Given the description of an element on the screen output the (x, y) to click on. 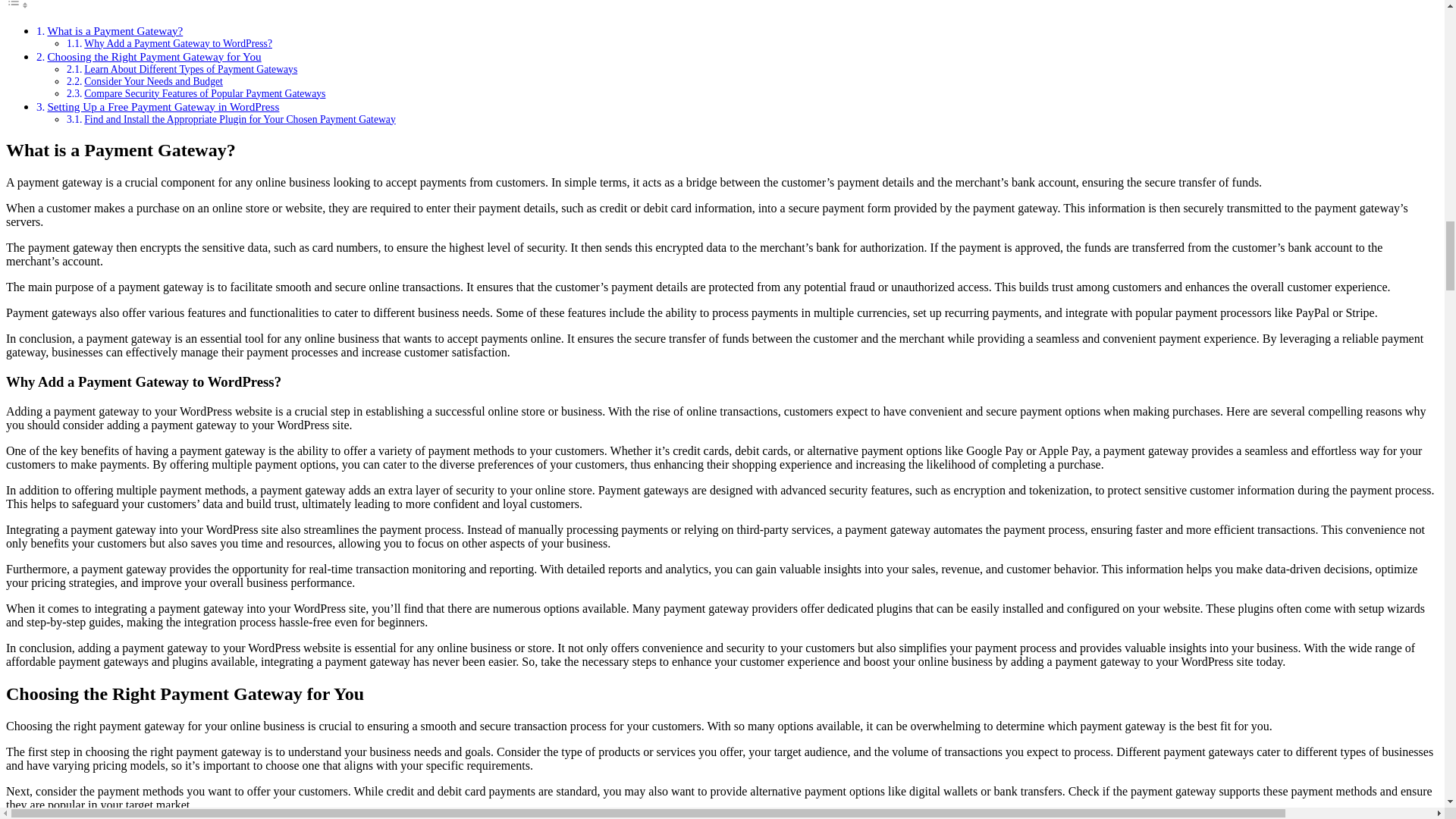
Choosing the Right Payment Gateway for You (153, 56)
Compare Security Features of Popular Payment Gateways (204, 93)
Learn About Different Types of Payment Gateways (190, 69)
Consider Your Needs and Budget (153, 81)
Why Add a Payment Gateway to WordPress? (178, 43)
Setting Up a Free Payment Gateway in WordPress (162, 106)
Learn About Different Types of Payment Gateways (190, 69)
Setting Up a Free Payment Gateway in WordPress (162, 106)
Why Add a Payment Gateway to WordPress? (178, 43)
